Given the description of an element on the screen output the (x, y) to click on. 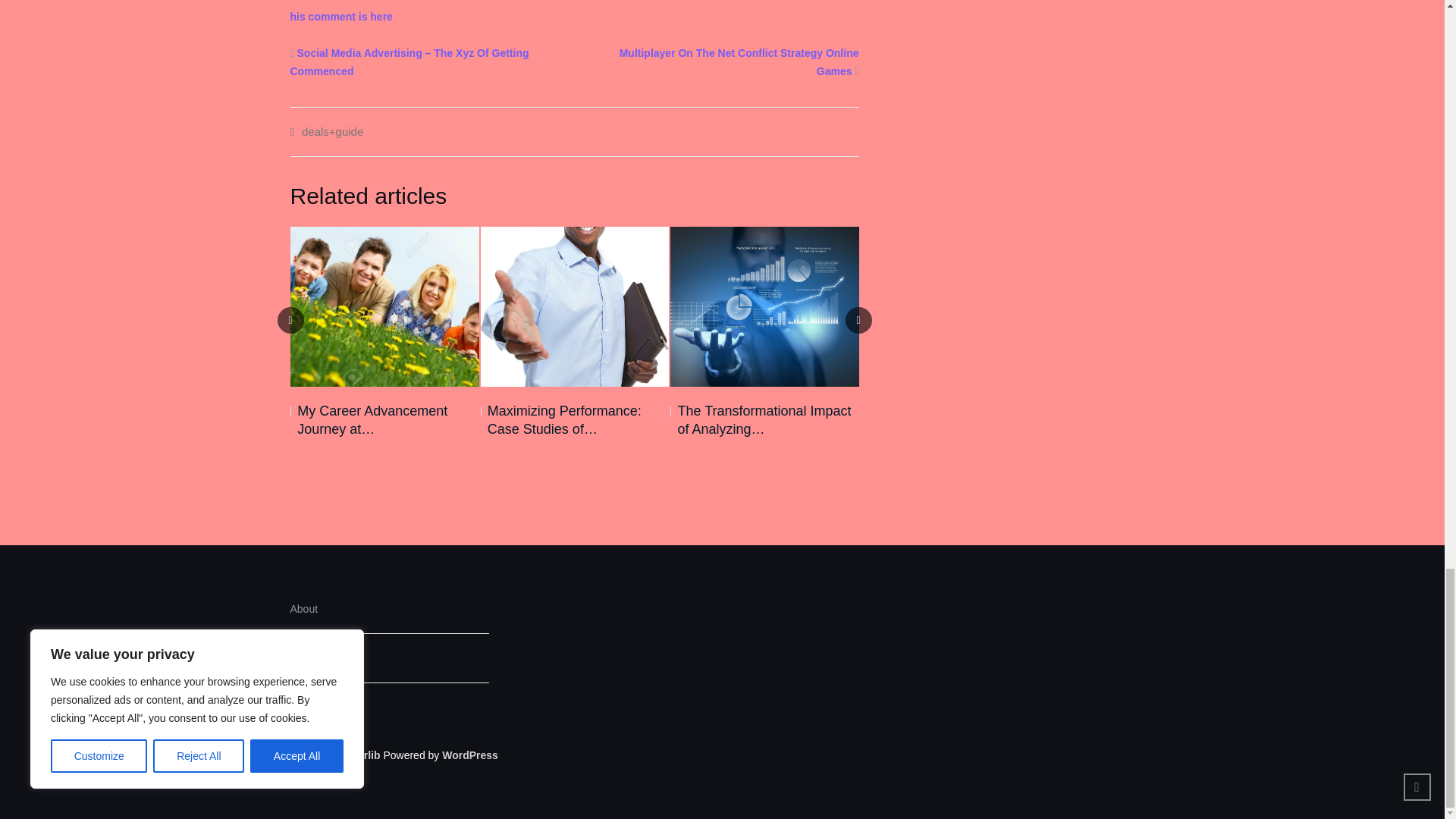
Colorlib (360, 755)
Multiplayer On The Net Conflict Strategy Online Games (739, 61)
WordPress.org (469, 755)
his comment is here (340, 16)
